Given the description of an element on the screen output the (x, y) to click on. 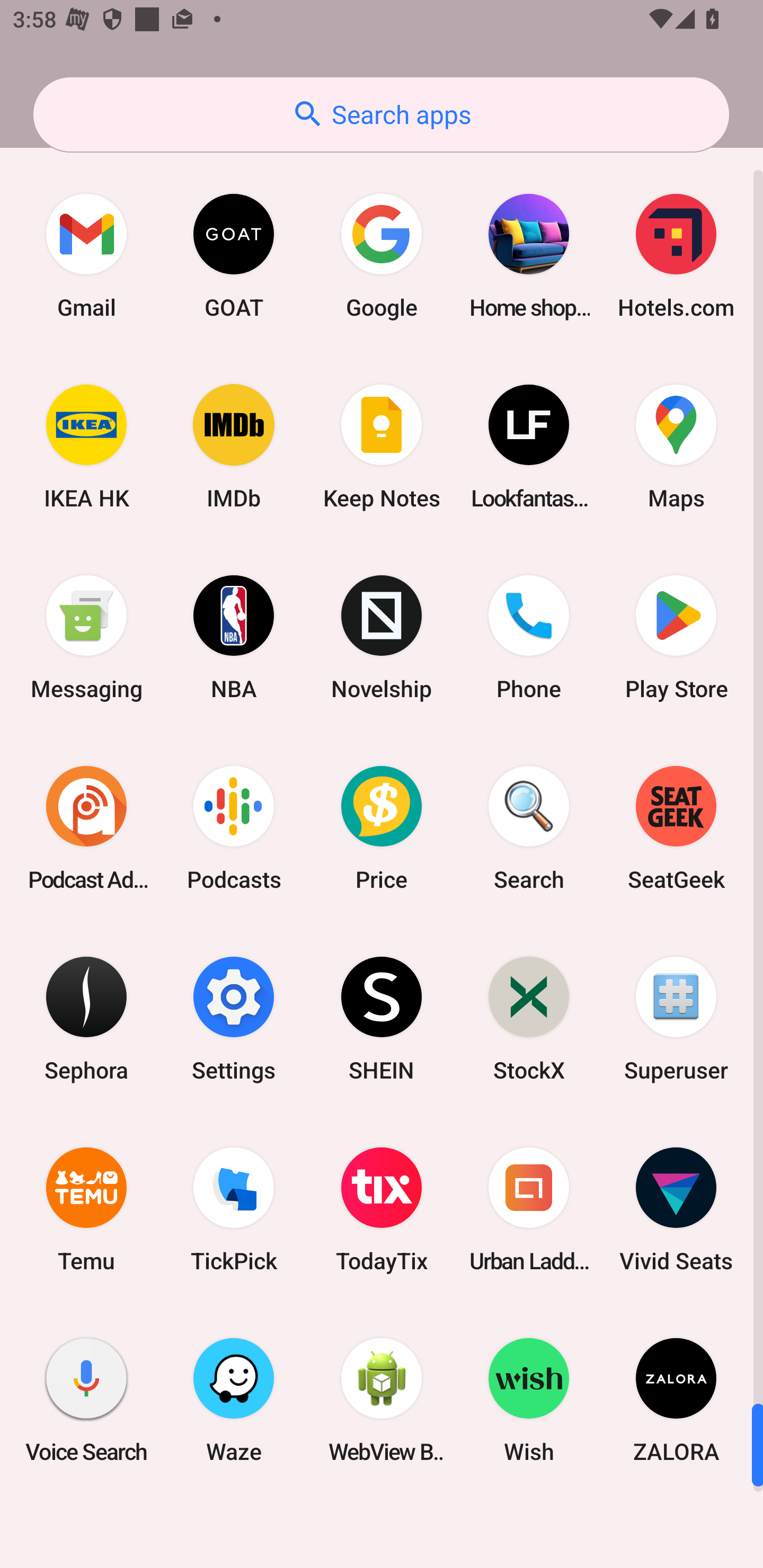
  Search apps (381, 114)
Gmail (86, 255)
GOAT (233, 255)
Google (381, 255)
Home shopping (528, 255)
Hotels.com (676, 255)
IKEA HK (86, 446)
IMDb (233, 446)
Keep Notes (381, 446)
Lookfantastic (528, 446)
Maps (676, 446)
Messaging (86, 637)
NBA (233, 637)
Novelship (381, 637)
Phone (528, 637)
Play Store (676, 637)
Podcast Addict (86, 827)
Podcasts (233, 827)
Price (381, 827)
Search (528, 827)
SeatGeek (676, 827)
Sephora (86, 1018)
Settings (233, 1018)
SHEIN (381, 1018)
StockX (528, 1018)
Superuser (676, 1018)
Temu (86, 1208)
TickPick (233, 1208)
TodayTix (381, 1208)
Urban Ladder (528, 1208)
Vivid Seats (676, 1208)
Voice Search (86, 1399)
Waze (233, 1399)
WebView Browser Tester (381, 1399)
Wish (528, 1399)
ZALORA (676, 1399)
